Given the description of an element on the screen output the (x, y) to click on. 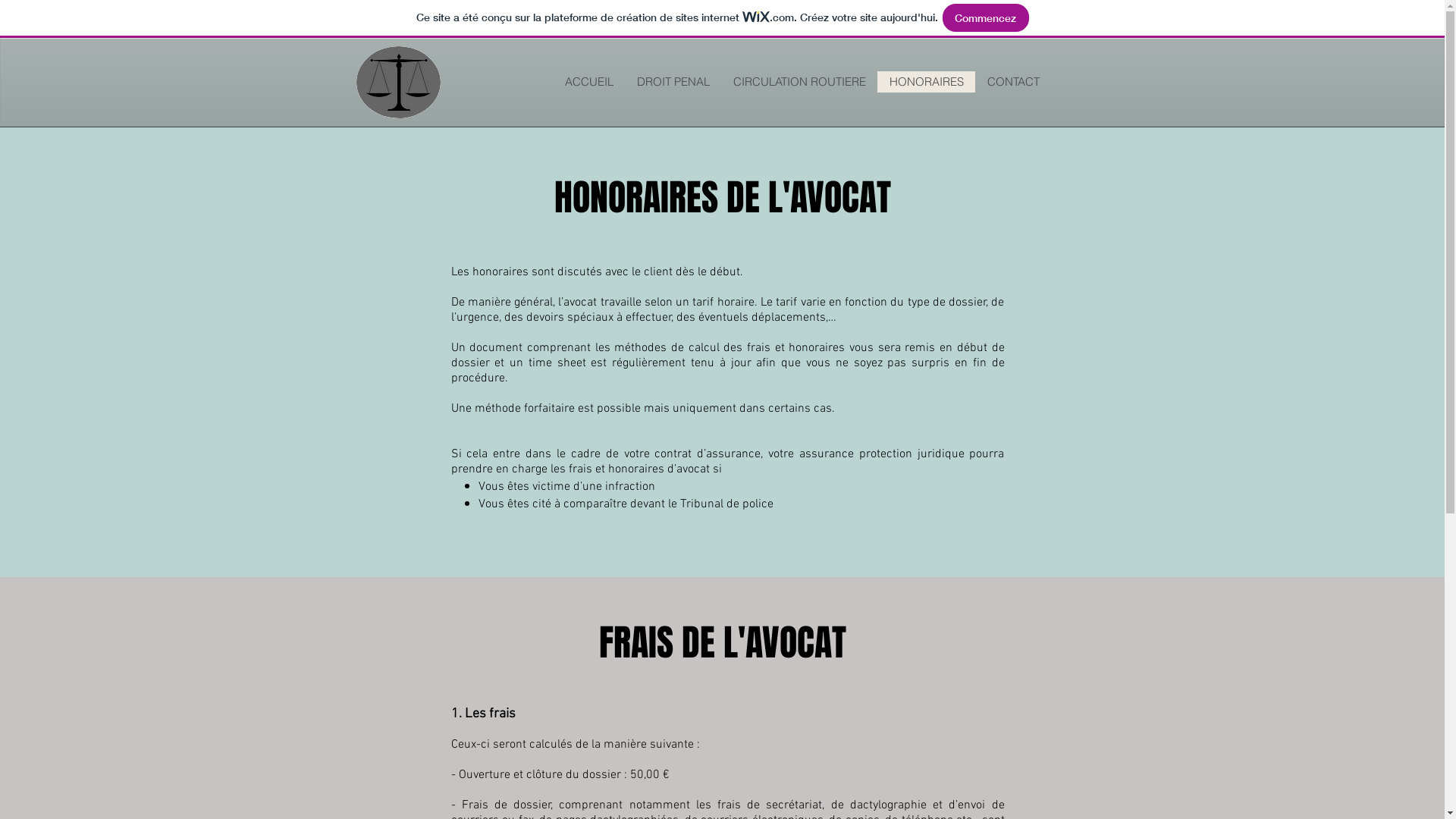
ACCUEIL Element type: text (588, 81)
CIRCULATION ROUTIERE Element type: text (798, 81)
HONORAIRES Element type: text (925, 81)
CONTACT Element type: text (1013, 81)
DROIT PENAL Element type: text (672, 81)
